Given the description of an element on the screen output the (x, y) to click on. 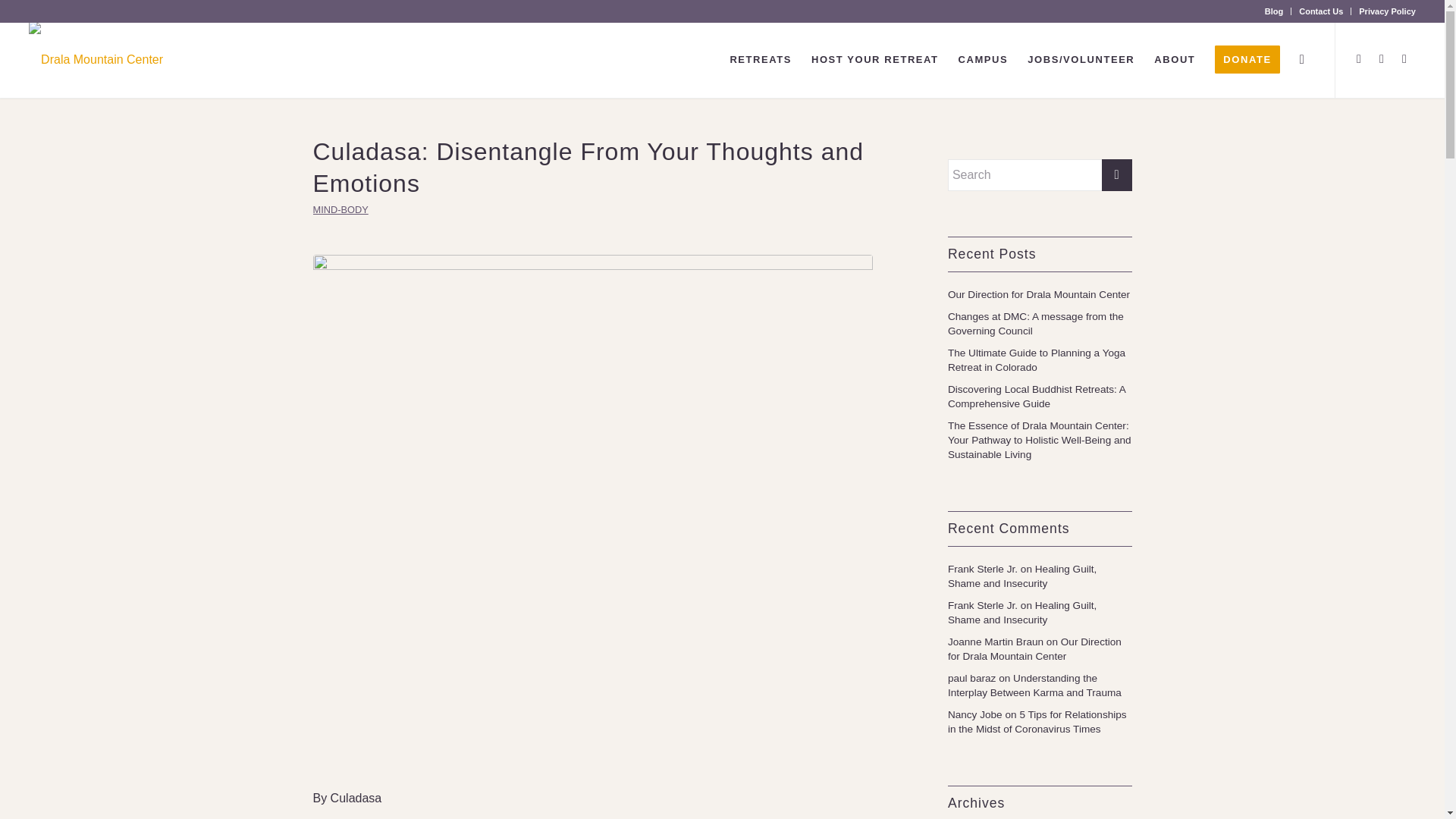
CAMPUS (983, 59)
Instagram (1381, 58)
Drala-logo-1 (96, 59)
HOST YOUR RETREAT (875, 59)
Blog (1273, 11)
Contact Us (1320, 11)
Youtube (1404, 58)
Facebook (1359, 58)
DONATE (1246, 59)
Privacy Policy (1386, 11)
